Given the description of an element on the screen output the (x, y) to click on. 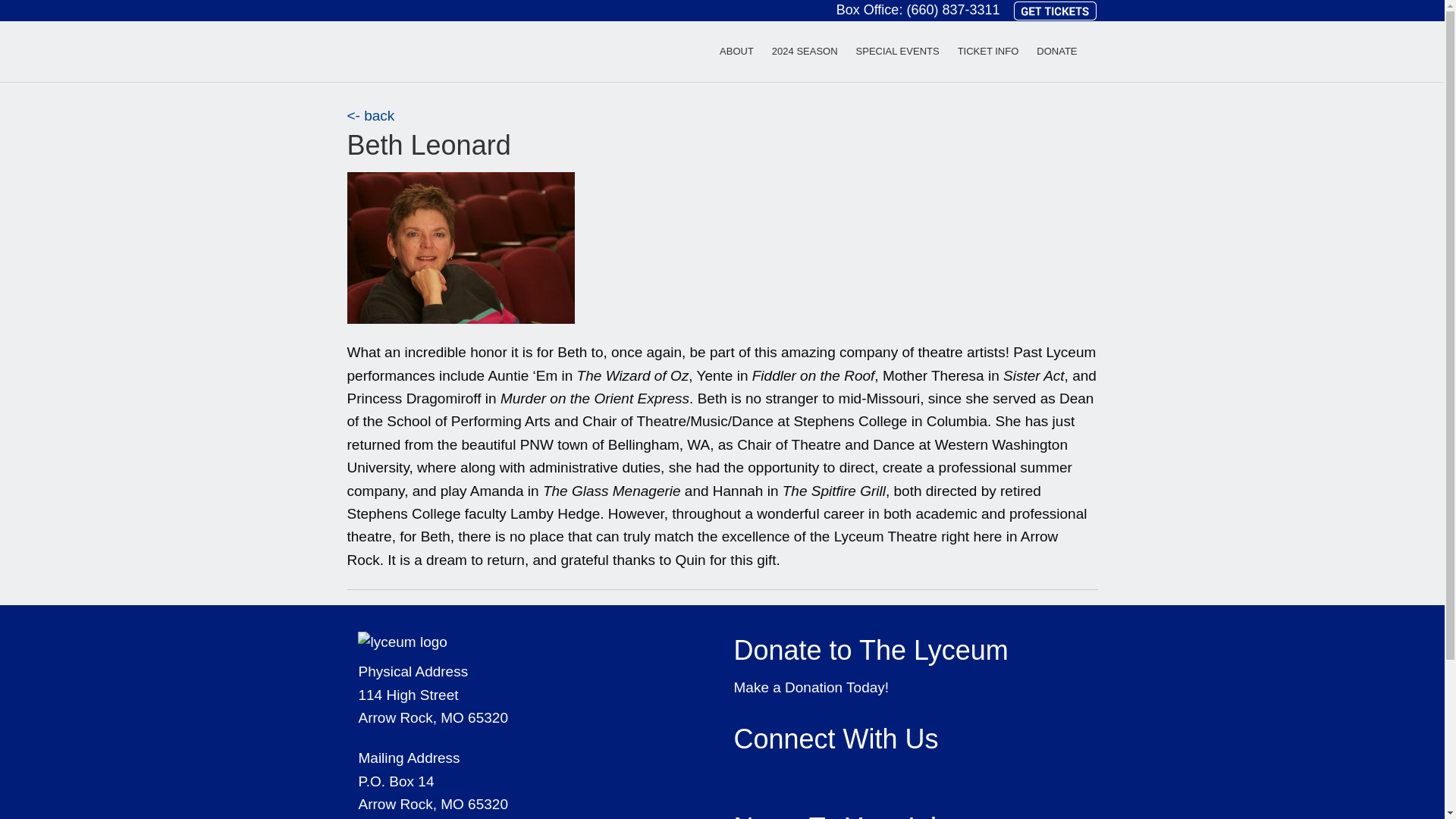
TICKET INFO (988, 51)
2024 SEASON (804, 51)
Arrow Rock Lyceum Theatre (416, 50)
Make a Donation Today! (810, 687)
DONATE (1056, 51)
SPECIAL EVENTS (898, 51)
